Given the description of an element on the screen output the (x, y) to click on. 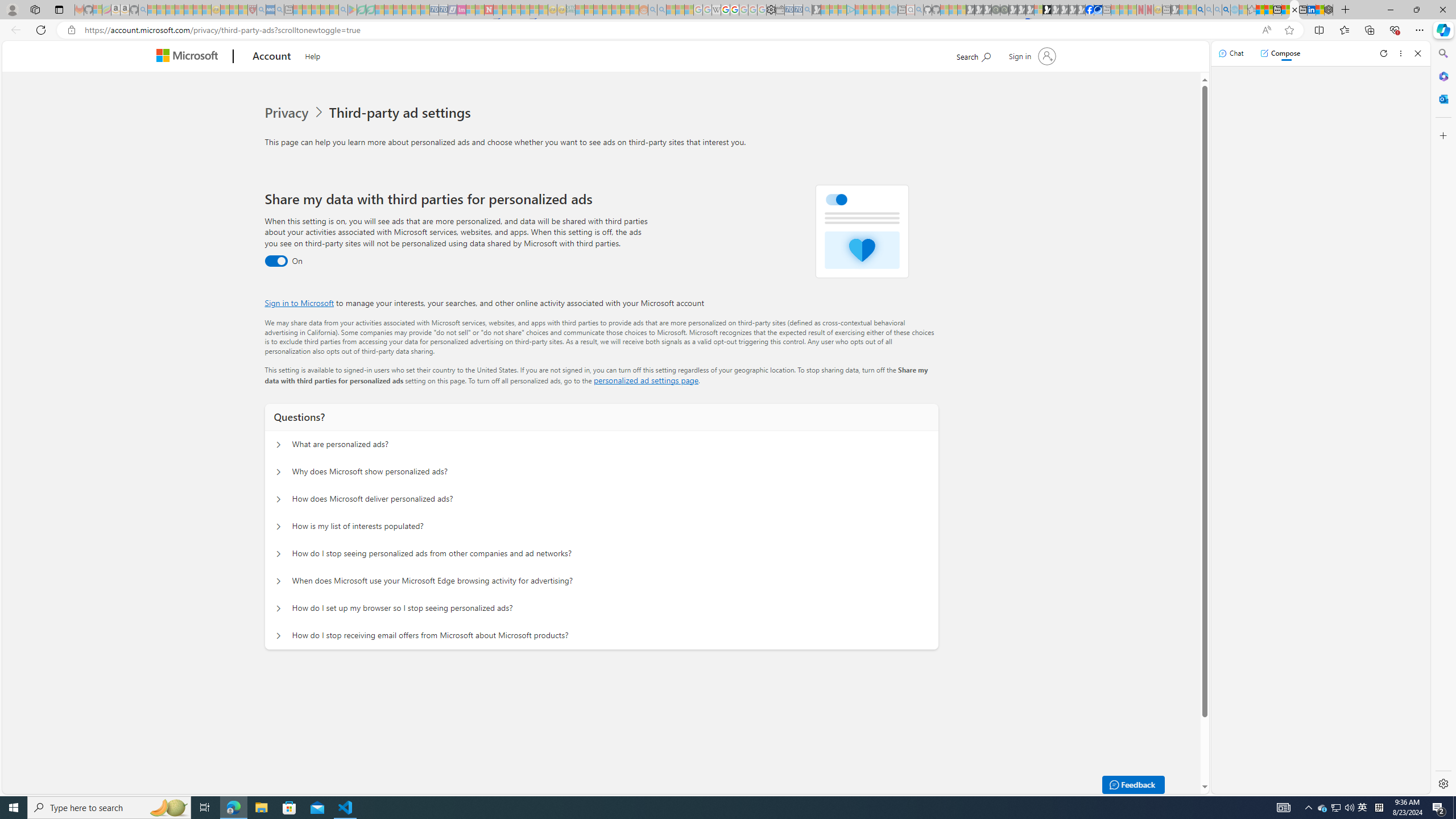
personalized ad settings page (645, 379)
